Given the description of an element on the screen output the (x, y) to click on. 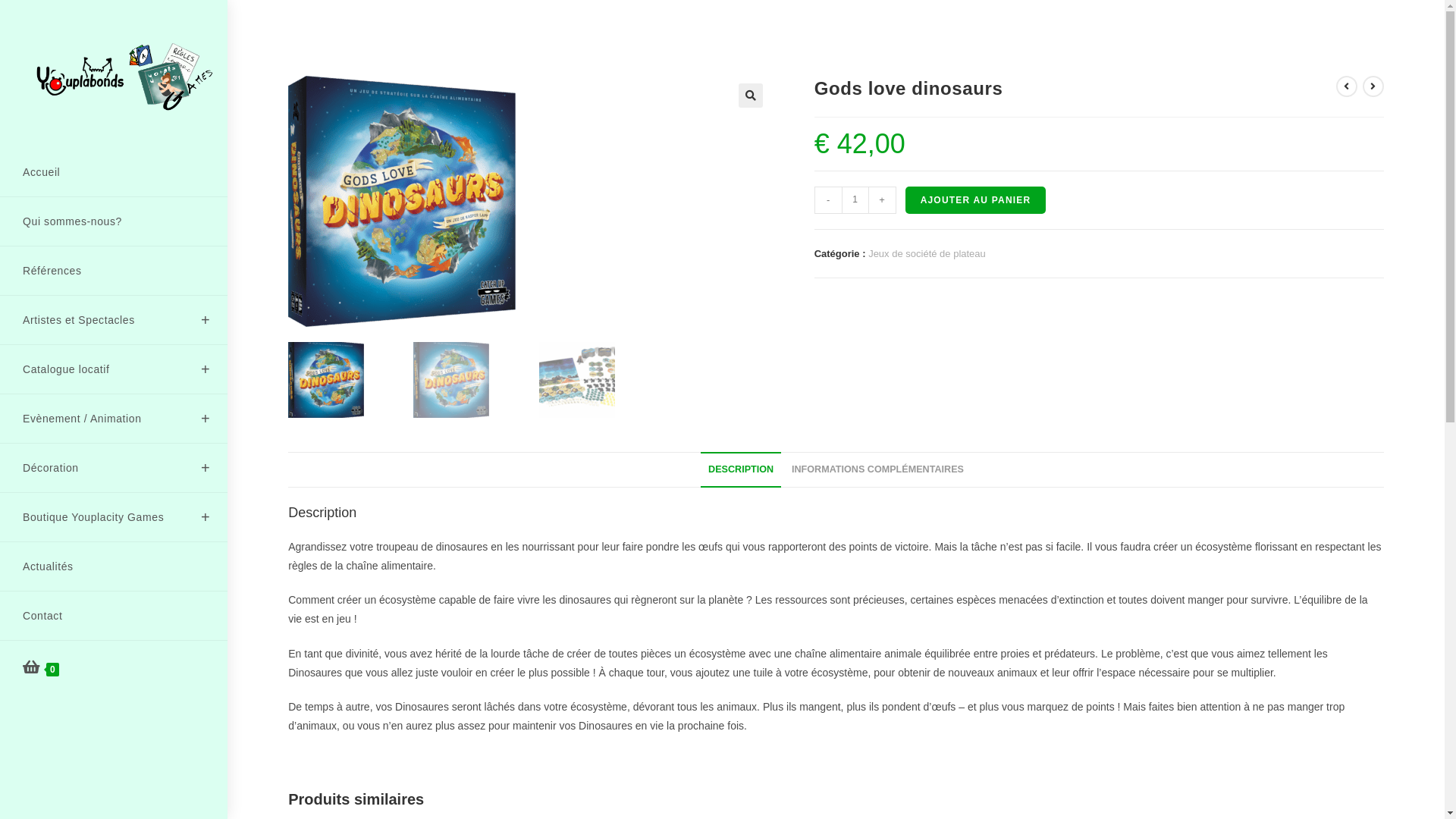
Contact Element type: text (113, 615)
DESCRIPTION Element type: text (740, 469)
Accueil Element type: text (113, 171)
0 Element type: text (113, 667)
Artistes et Spectacles Element type: text (113, 319)
- Element type: text (827, 199)
[01671] GODS LOVE DINOSAURS Element type: hover (401, 200)
Boutique Youplacity Games Element type: text (113, 516)
AJOUTER AU PANIER Element type: text (975, 199)
[01671] GODS LOVE DINOSAURS Element type: hover (883, 200)
Catalogue locatif Element type: text (113, 369)
Qui sommes-nous? Element type: text (113, 221)
+ Element type: text (882, 199)
